Given the description of an element on the screen output the (x, y) to click on. 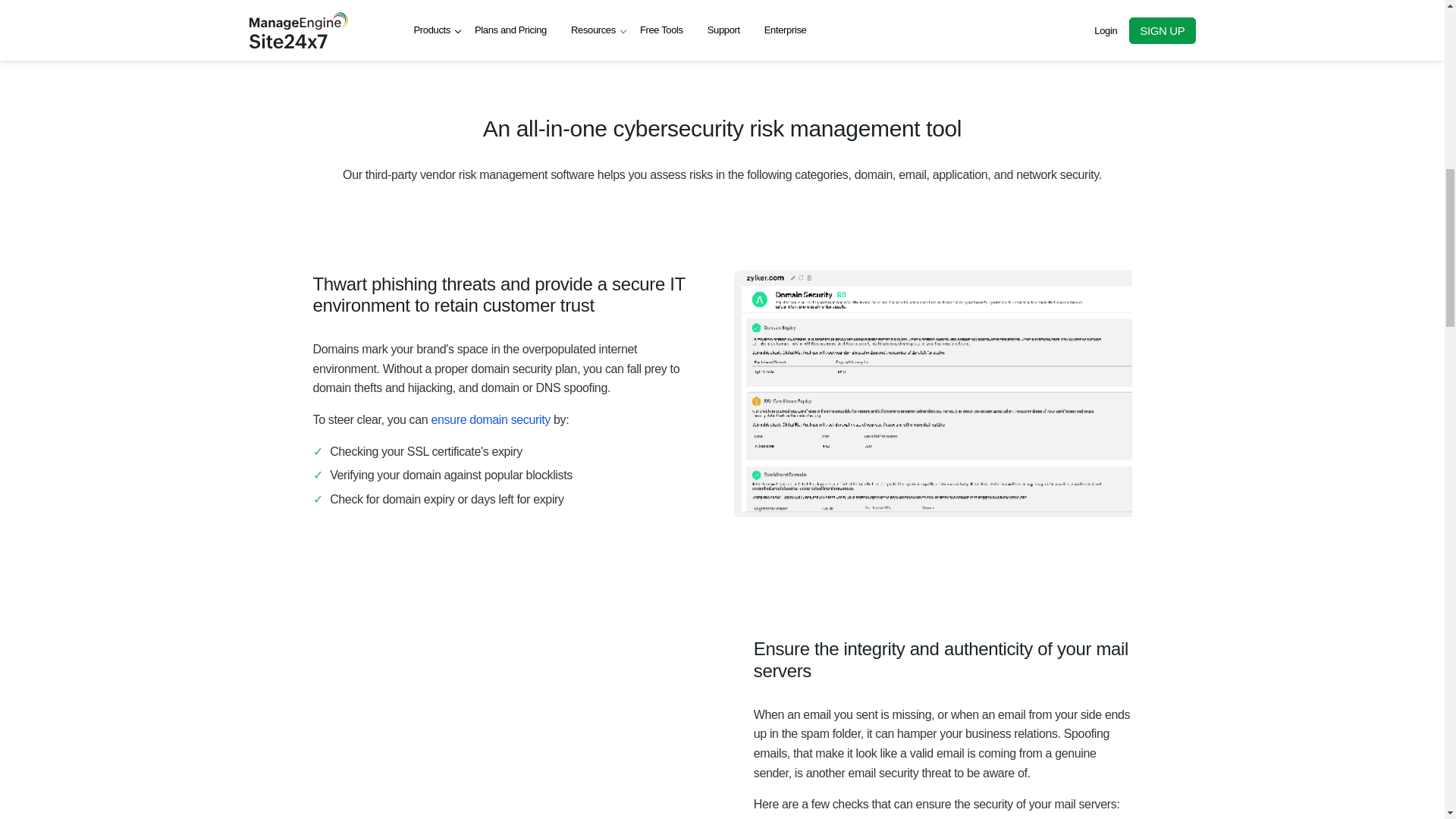
ensure domain security (490, 419)
